Given the description of an element on the screen output the (x, y) to click on. 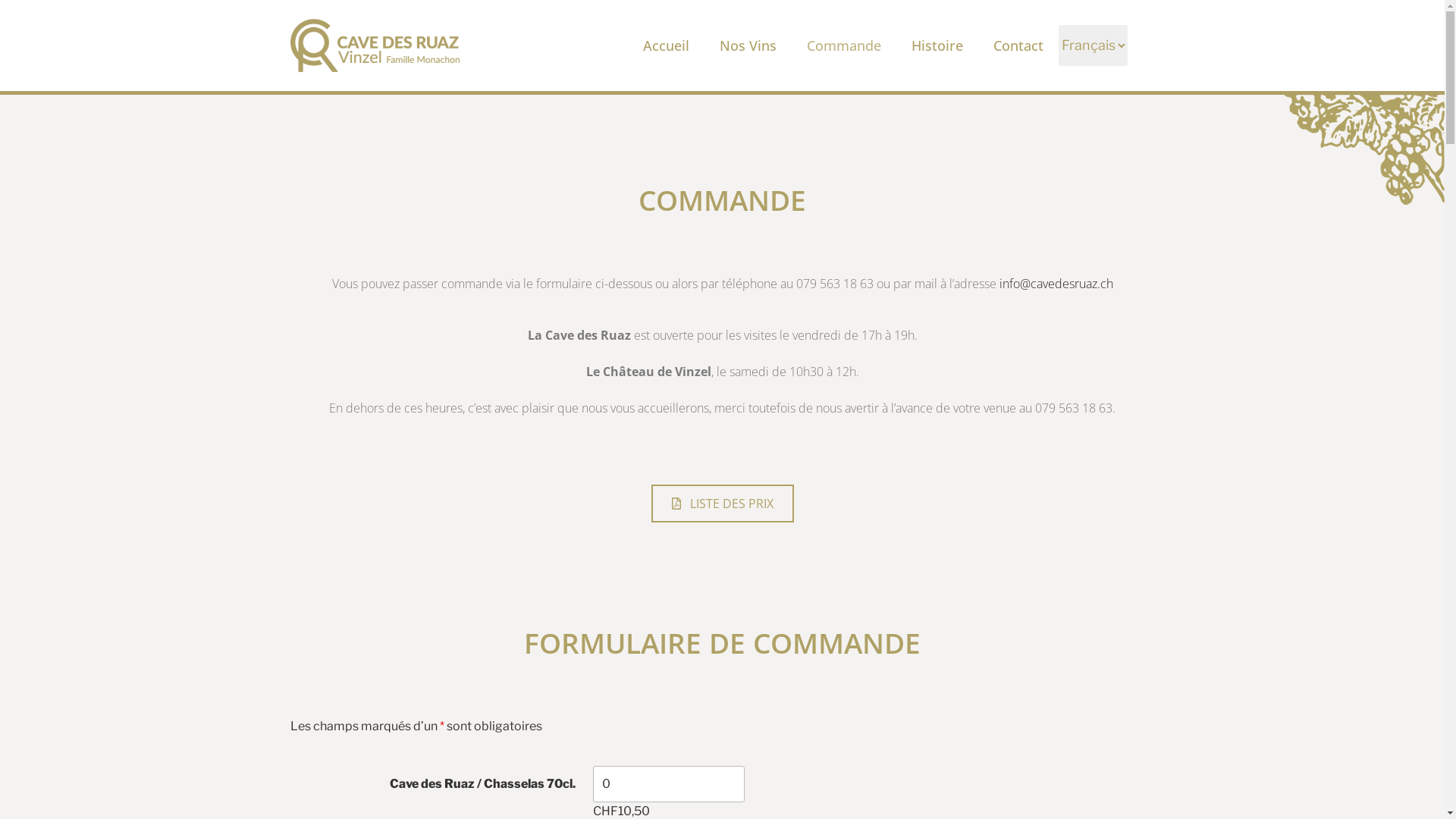
Histoire Element type: text (937, 45)
LISTE DES PRIX Element type: text (721, 503)
Contact Element type: text (1018, 45)
Accueil Element type: text (665, 45)
info@cavedesruaz.ch Element type: text (1056, 283)
Commande Element type: text (843, 45)
Nos Vins Element type: text (747, 45)
